Given the description of an element on the screen output the (x, y) to click on. 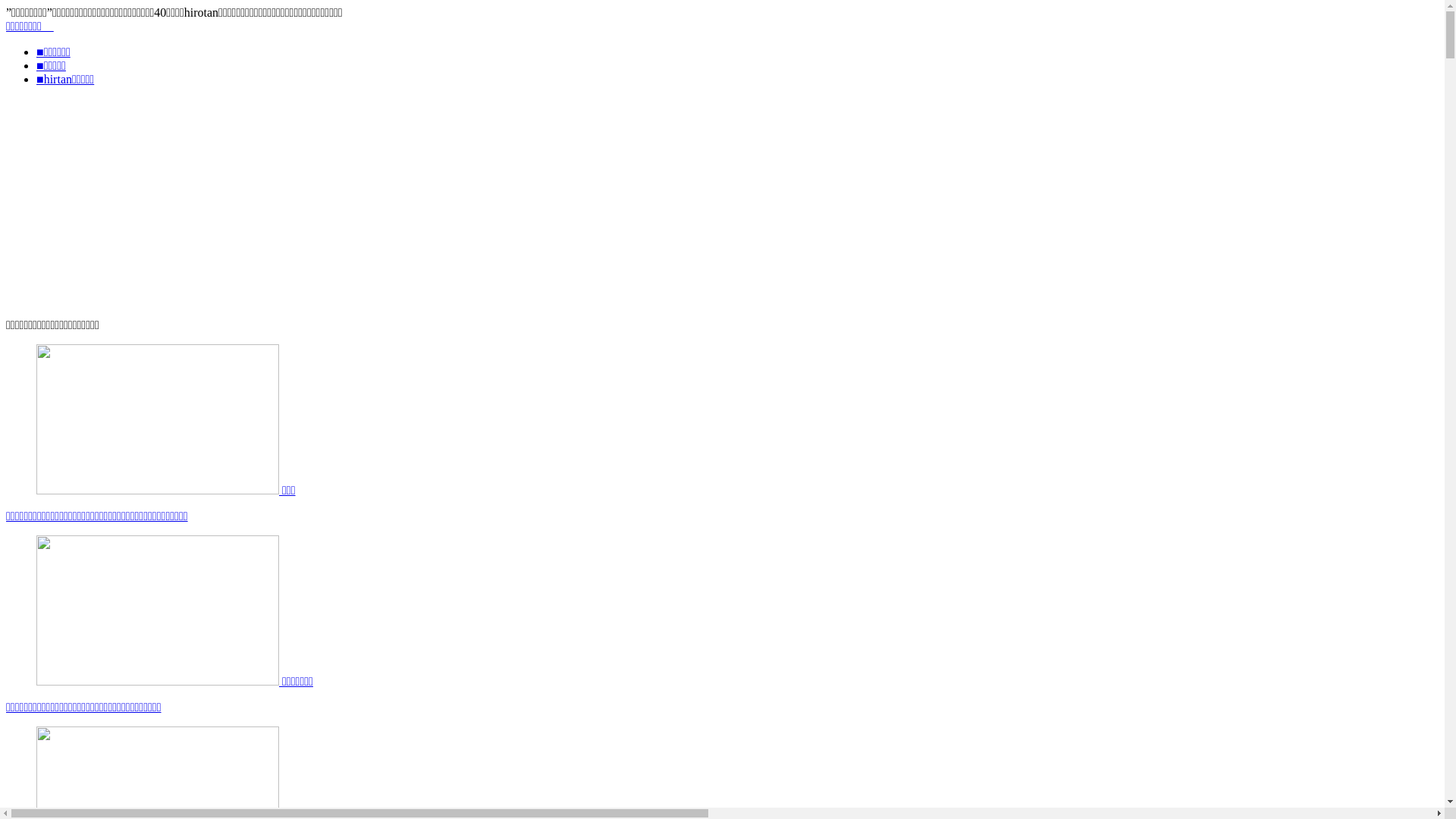
Advertisement Element type: hover (721, 204)
